Given the description of an element on the screen output the (x, y) to click on. 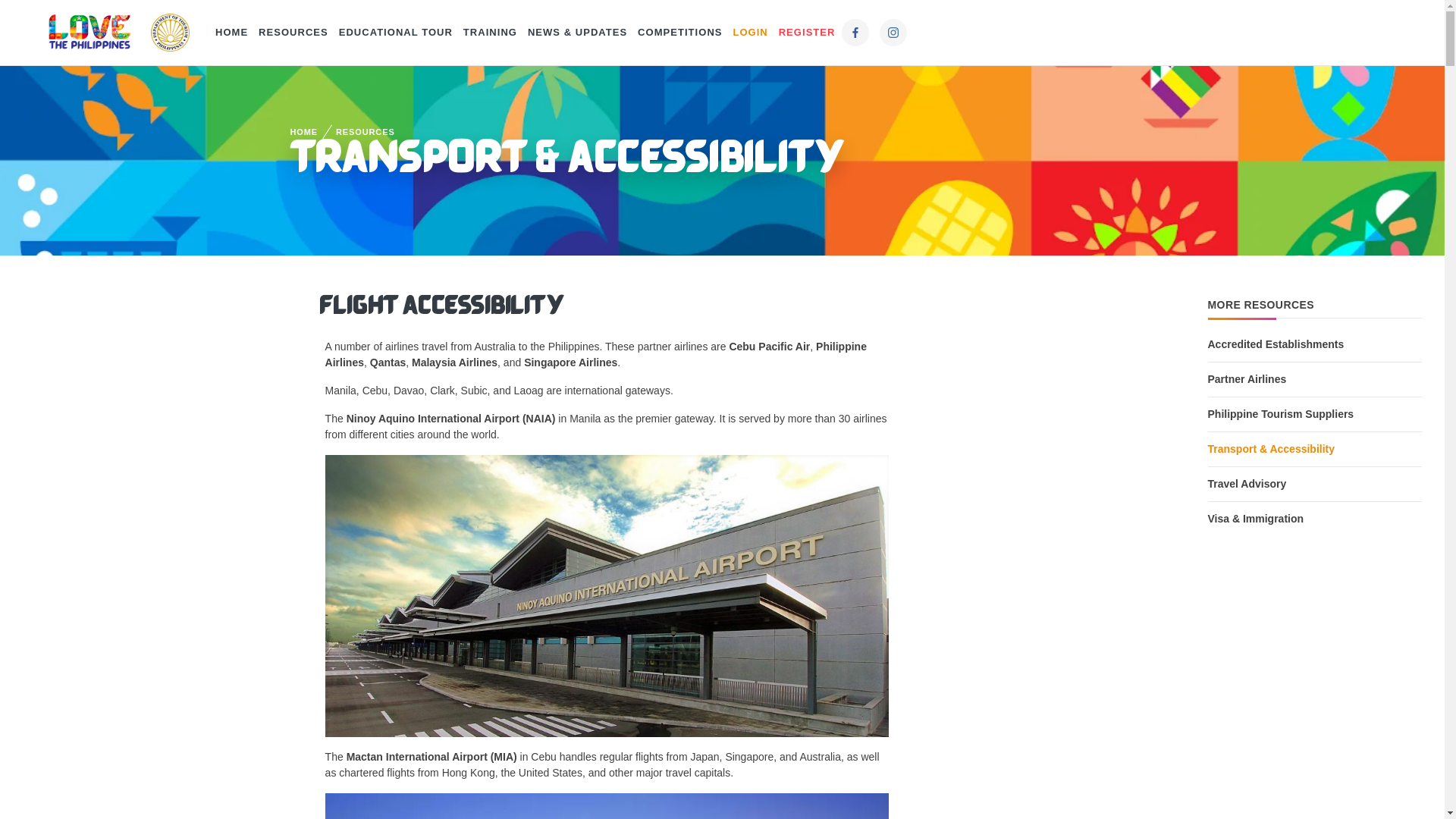
COMPETITIONS Element type: text (679, 32)
Accredited Establishments Element type: text (1314, 344)
Visa & Immigration Element type: text (1314, 514)
RESOURCES Element type: text (293, 32)
TRAINING Element type: text (489, 32)
LOGIN Element type: text (749, 32)
HOME Element type: text (231, 32)
Philippine Tourism Suppliers Element type: text (1314, 414)
RESOURCES Element type: text (365, 131)
Partner Airlines Element type: text (1314, 379)
REGISTER Element type: text (807, 32)
Transport & Accessibility Element type: text (1314, 449)
HOME Element type: text (303, 131)
EDUCATIONAL TOUR Element type: text (395, 32)
Travel Advisory Element type: text (1314, 484)
NEWS & UPDATES Element type: text (577, 32)
